Given the description of an element on the screen output the (x, y) to click on. 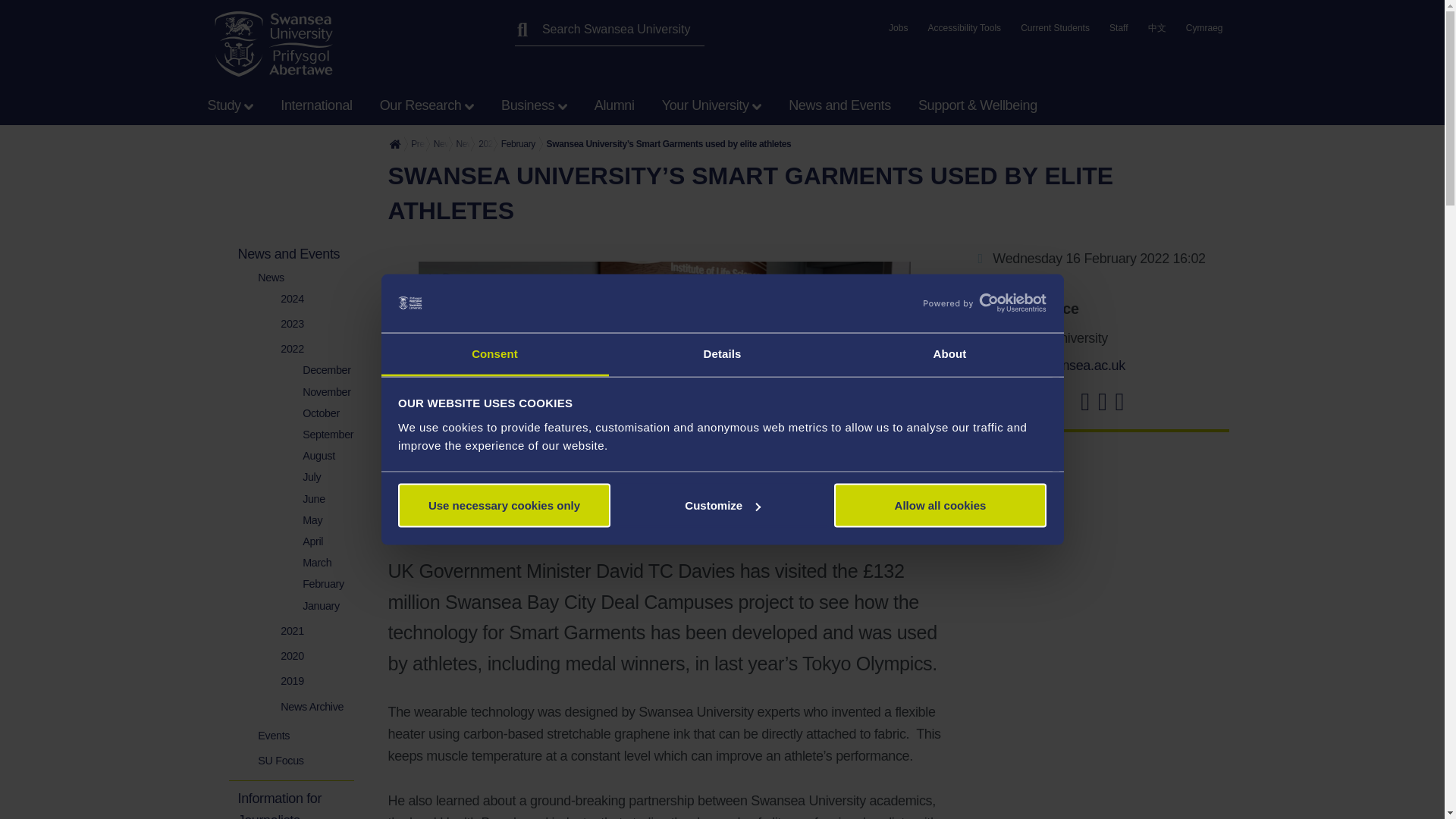
About (948, 353)
Details (721, 353)
Consent (494, 353)
